Given the description of an element on the screen output the (x, y) to click on. 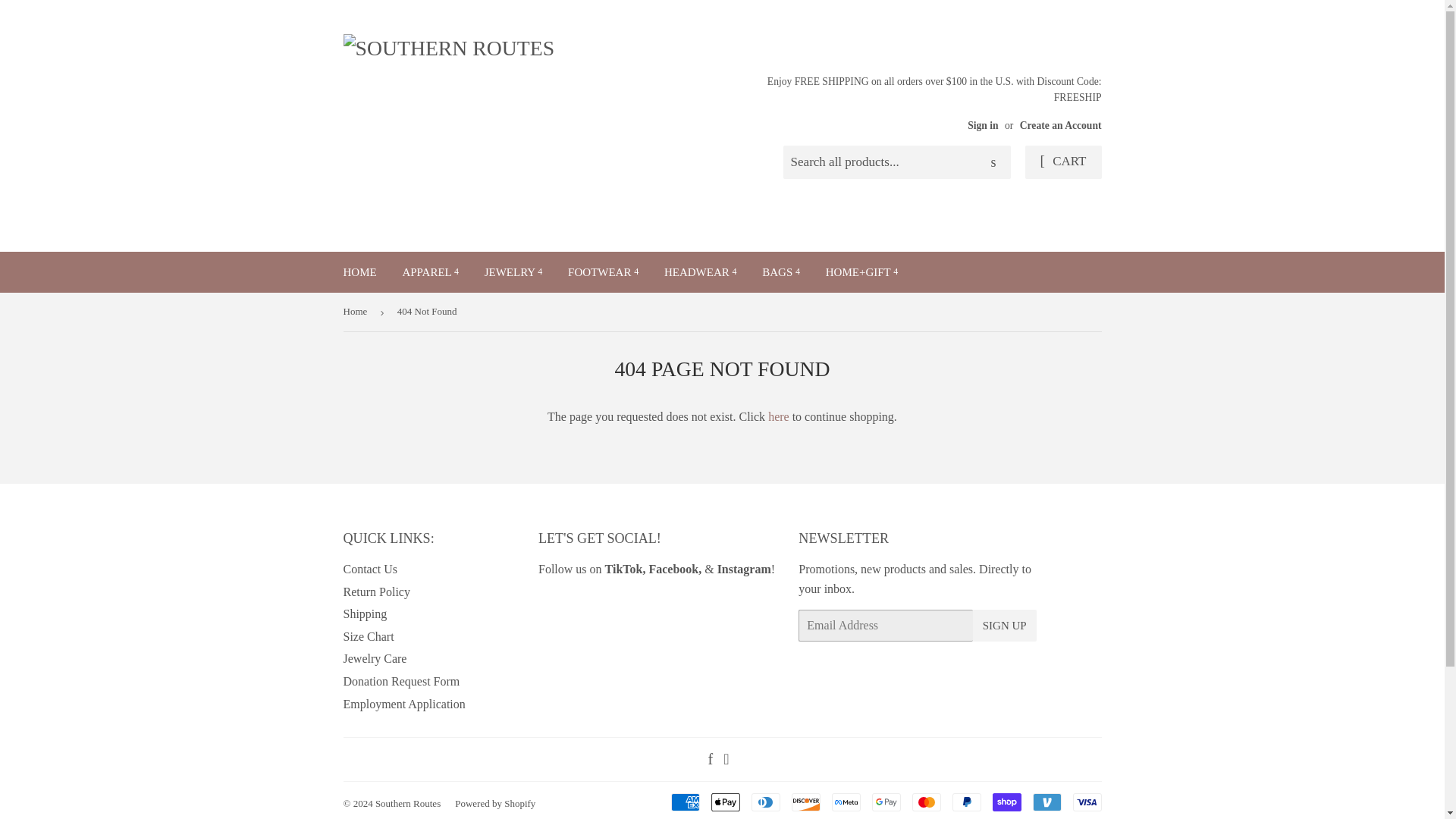
Search (993, 163)
Mastercard (925, 802)
CART (1063, 162)
Apple Pay (725, 802)
American Express (683, 802)
Diners Club (764, 802)
Visa (1085, 802)
Google Pay (886, 802)
Create an Account (1061, 125)
Discover (806, 802)
PayPal (966, 802)
Sign in (982, 125)
Venmo (1046, 802)
Shop Pay (1005, 802)
Meta Pay (845, 802)
